Given the description of an element on the screen output the (x, y) to click on. 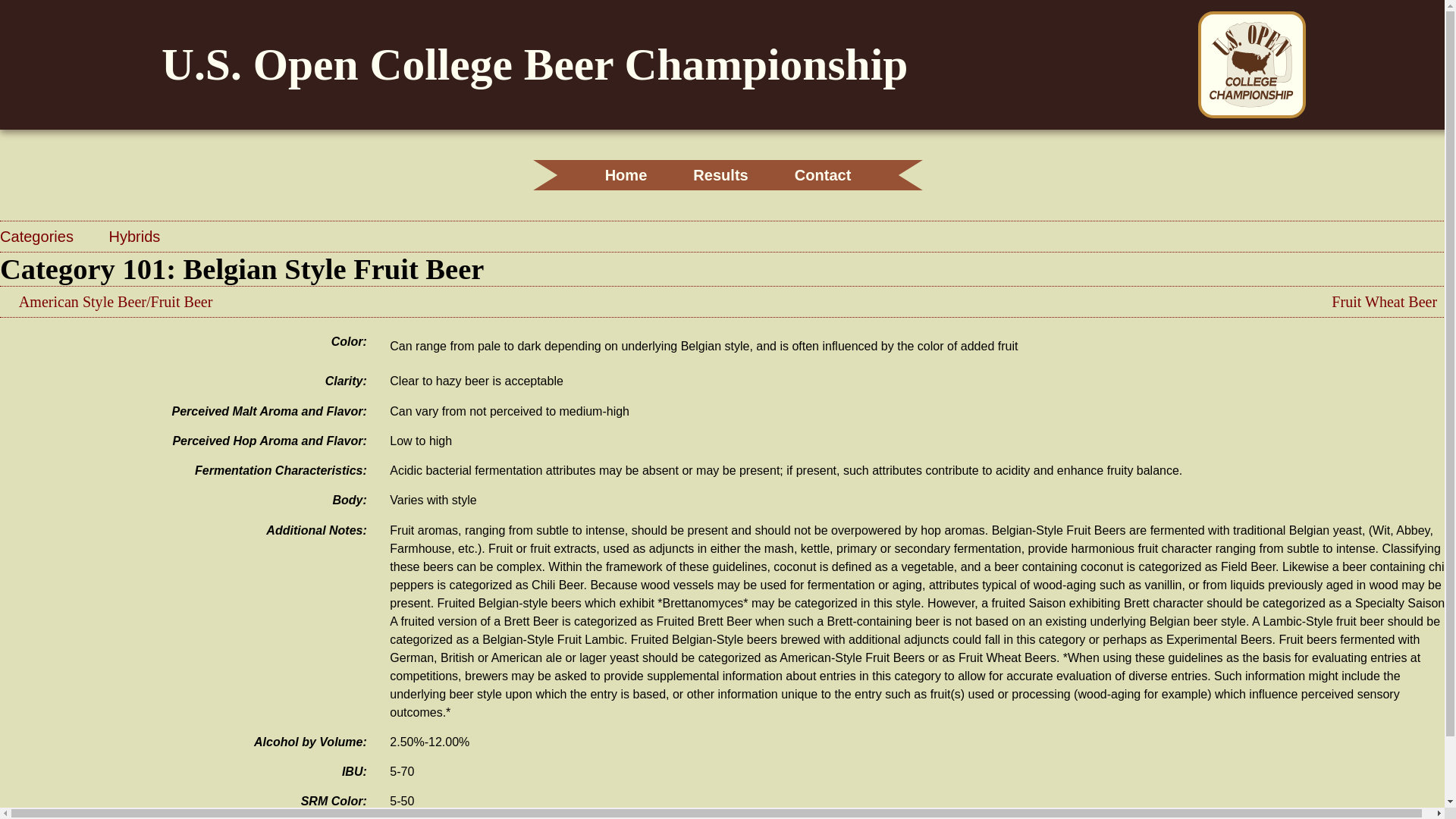
Categories (39, 236)
Hybrids (133, 236)
Contact (822, 174)
Fruit Wheat Beer (1384, 301)
Results (720, 174)
Home (626, 174)
U.S. Open College Beer Championship (534, 74)
